Given the description of an element on the screen output the (x, y) to click on. 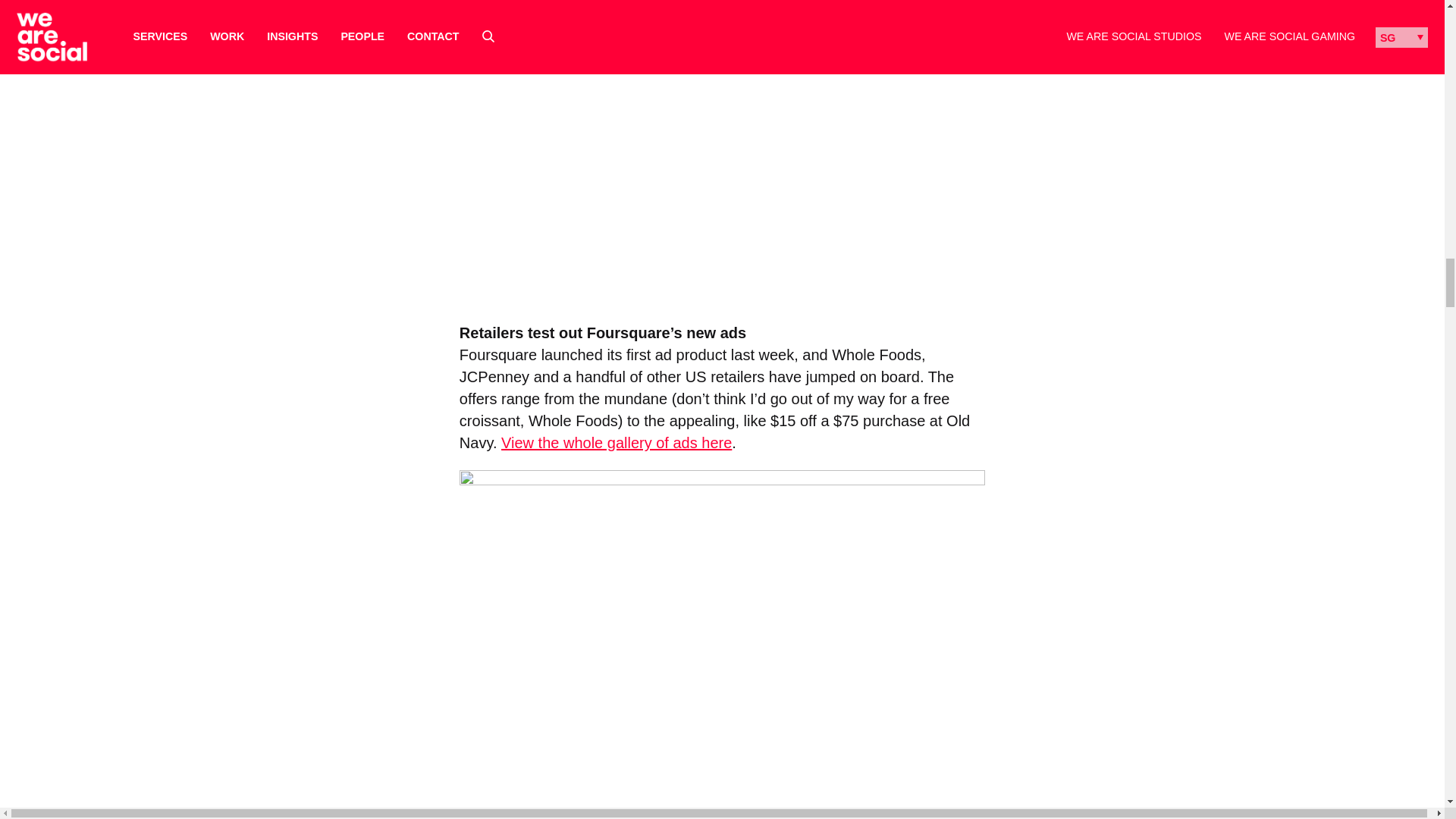
View the whole gallery of ads here (616, 442)
